Given the description of an element on the screen output the (x, y) to click on. 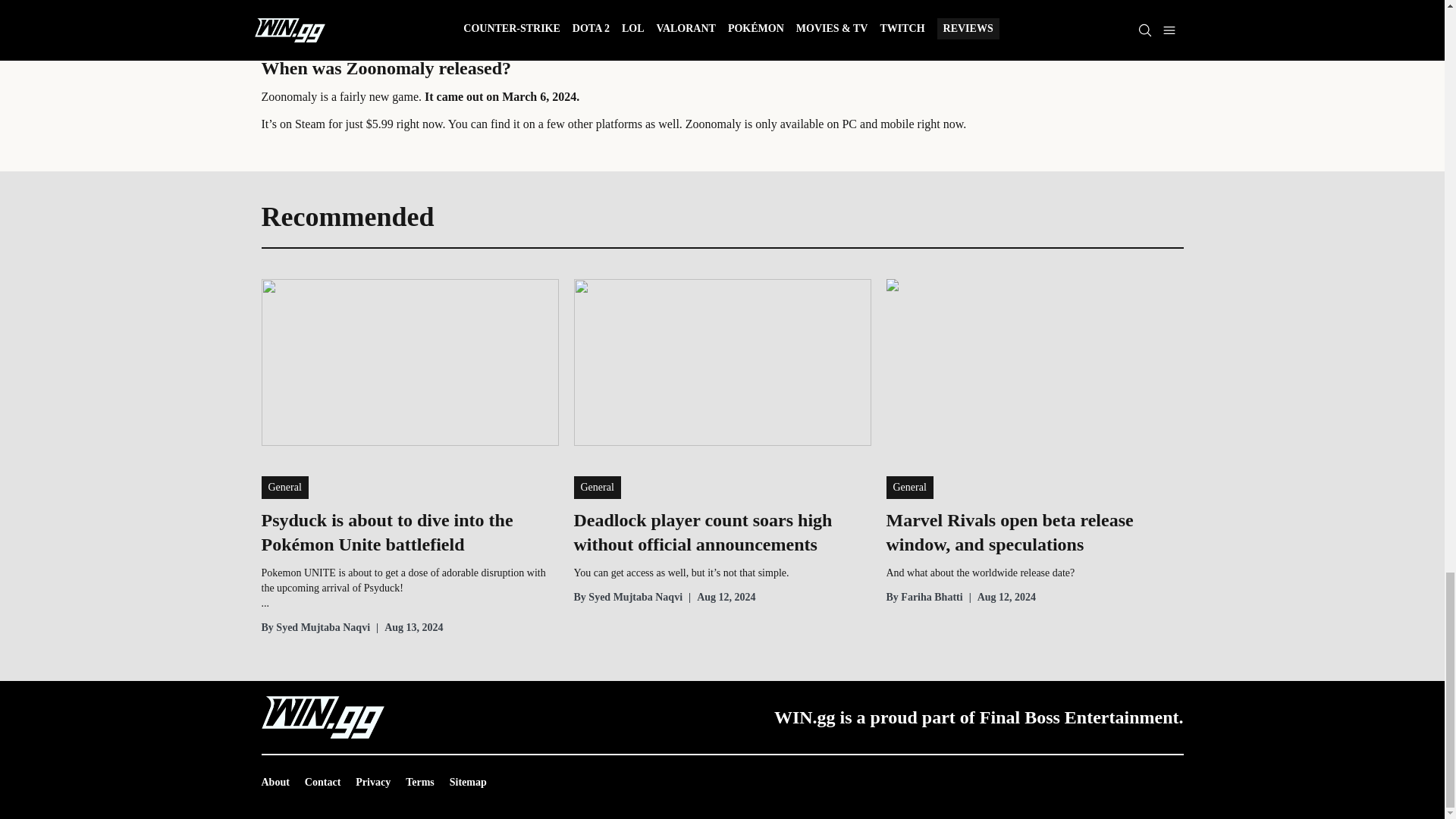
LIGHTS ARE OFF Compilation (648, 20)
Steam (309, 123)
By Syed Mujtaba Naqvi (314, 627)
General (596, 486)
General (283, 486)
